Given the description of an element on the screen output the (x, y) to click on. 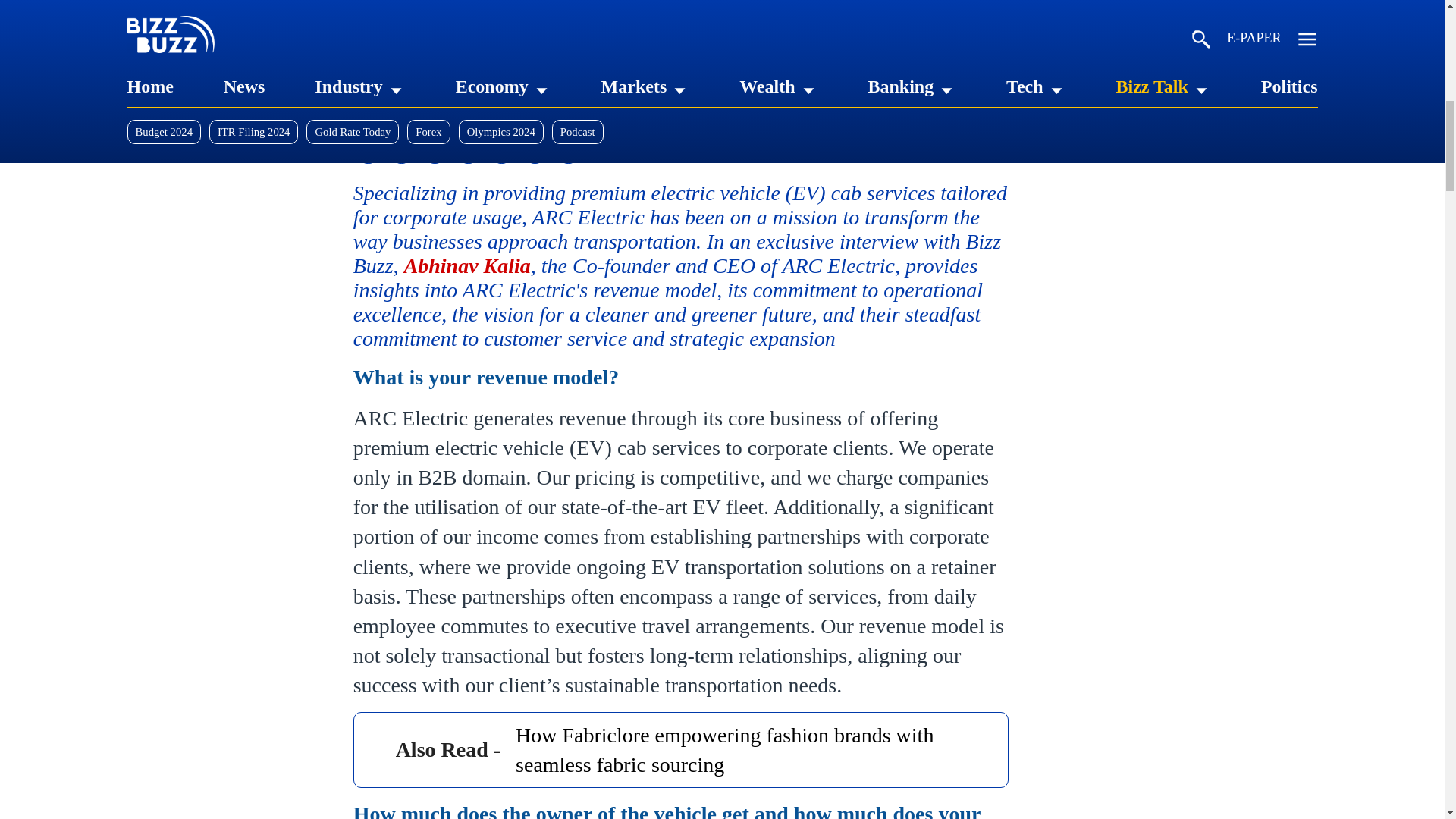
Abhinav Kalia, Co-founder and CEO, ARC Electric (678, 43)
LinkedIn (368, 150)
Share by Email (567, 150)
